Given the description of an element on the screen output the (x, y) to click on. 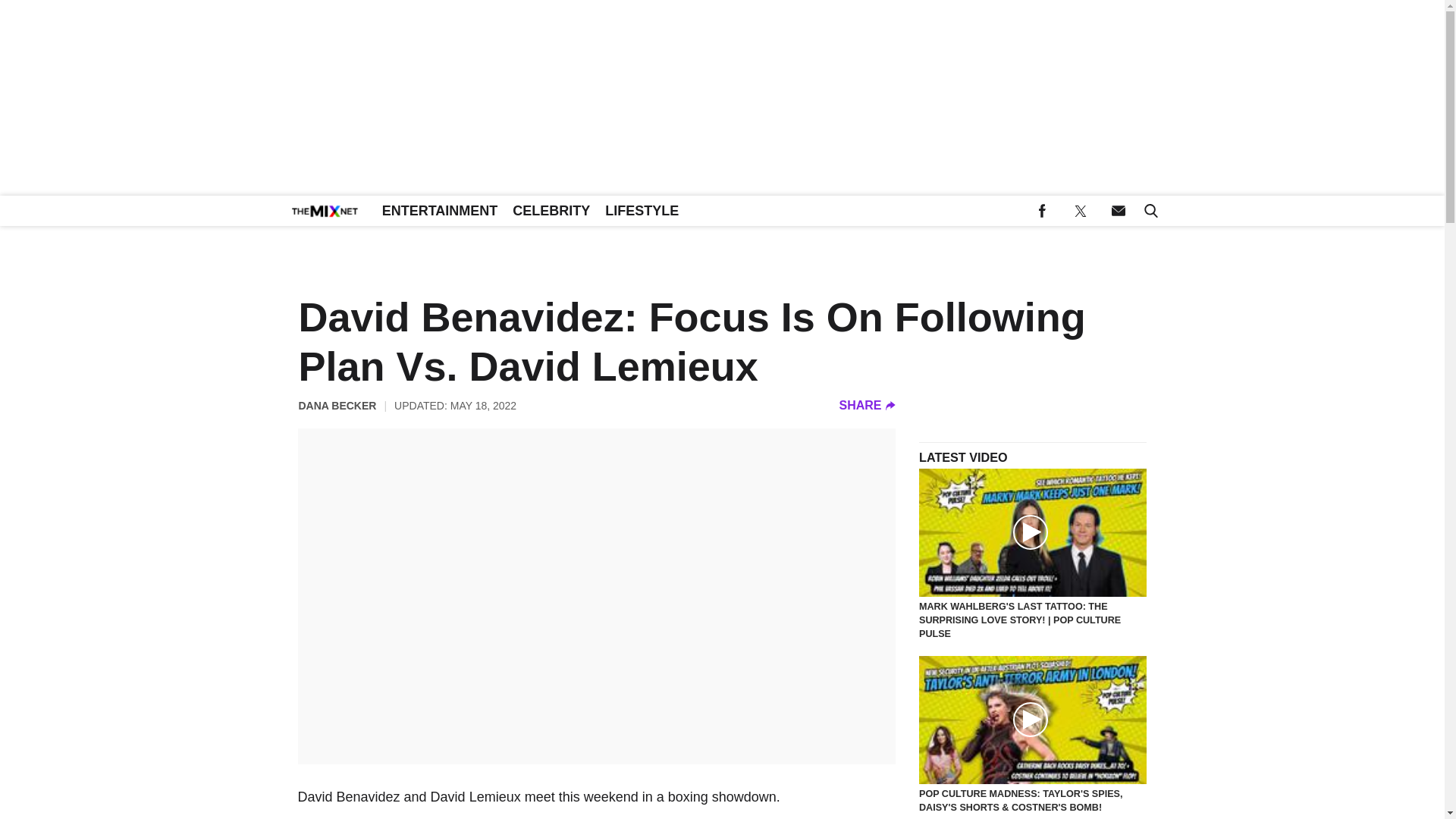
Follow us on Facebook (1042, 210)
ENTERTAINMENT (439, 210)
LIFESTYLE (640, 210)
Follow us on Twitter (1080, 210)
Posts by Dana Becker (337, 405)
DANA BECKER (337, 405)
CELEBRITY (550, 210)
Send us an email (1118, 210)
